Given the description of an element on the screen output the (x, y) to click on. 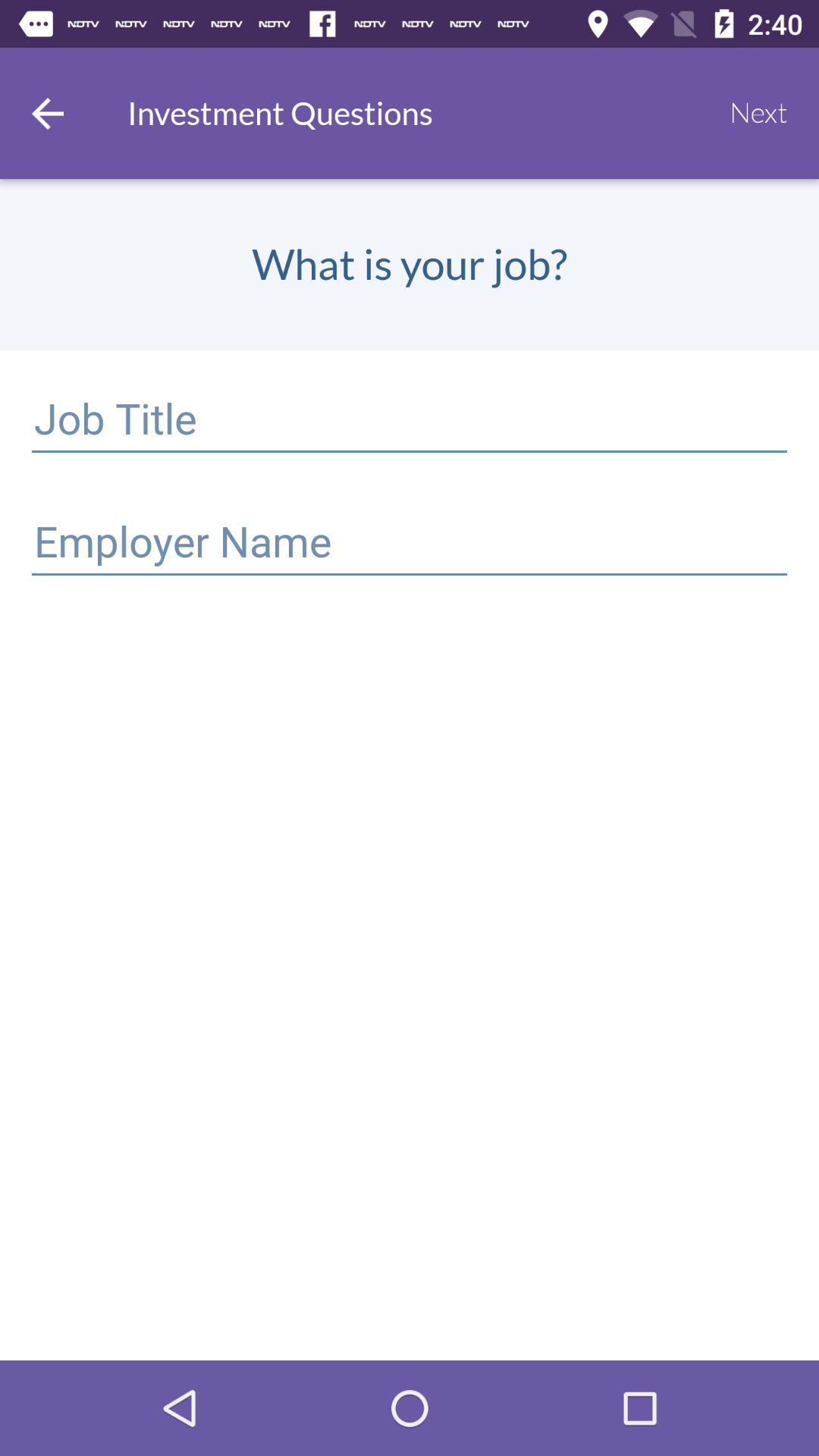
launch the icon next to investment questions icon (758, 113)
